Given the description of an element on the screen output the (x, y) to click on. 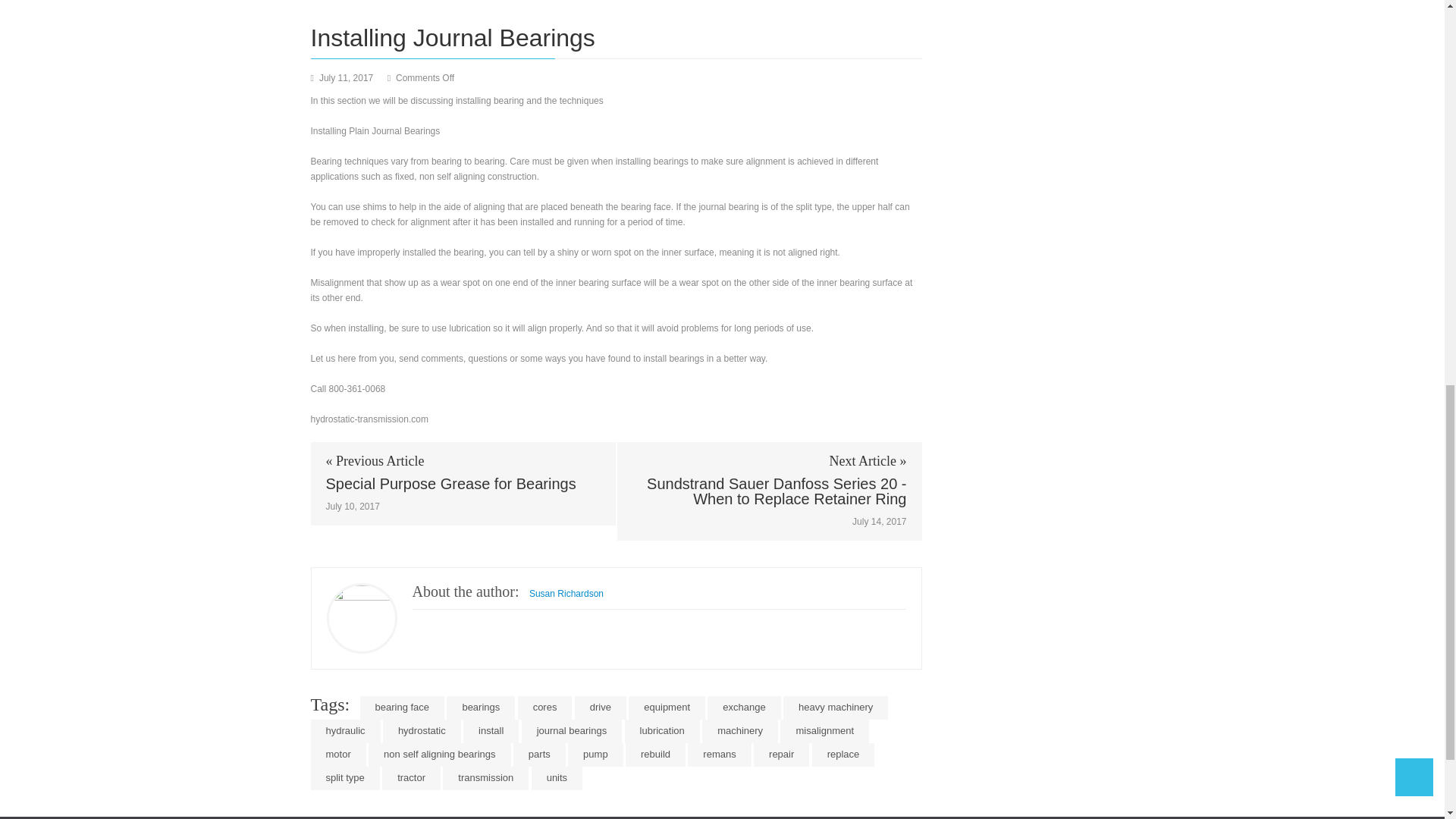
machinery (739, 730)
equipment (666, 707)
bearing face (401, 707)
rebuild (655, 754)
units (556, 778)
parts (539, 754)
motor (338, 754)
tractor (411, 778)
pump (595, 754)
lubrication (662, 730)
